Given the description of an element on the screen output the (x, y) to click on. 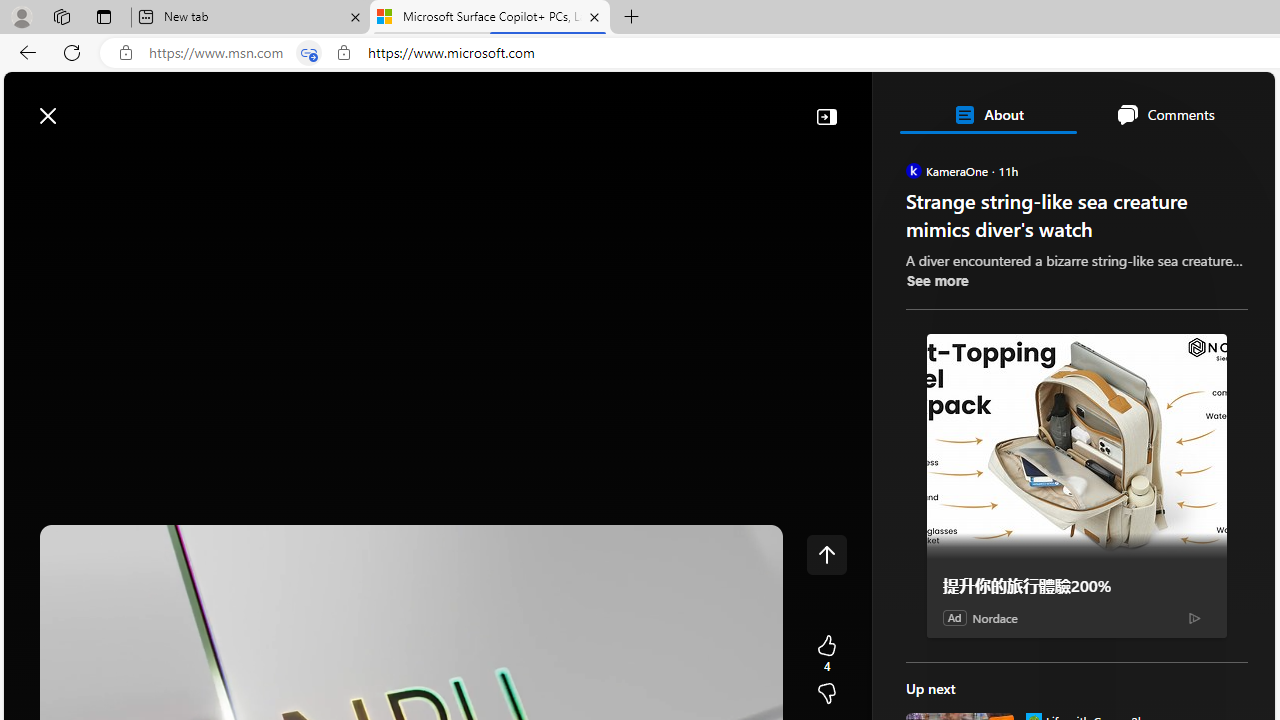
Watch (257, 162)
Open settings (1230, 105)
Open navigation menu (29, 162)
Microsoft rewards (1151, 105)
Ad Choice (1193, 617)
Dislike (826, 693)
4 Like (826, 653)
Comments (1165, 114)
